Given the description of an element on the screen output the (x, y) to click on. 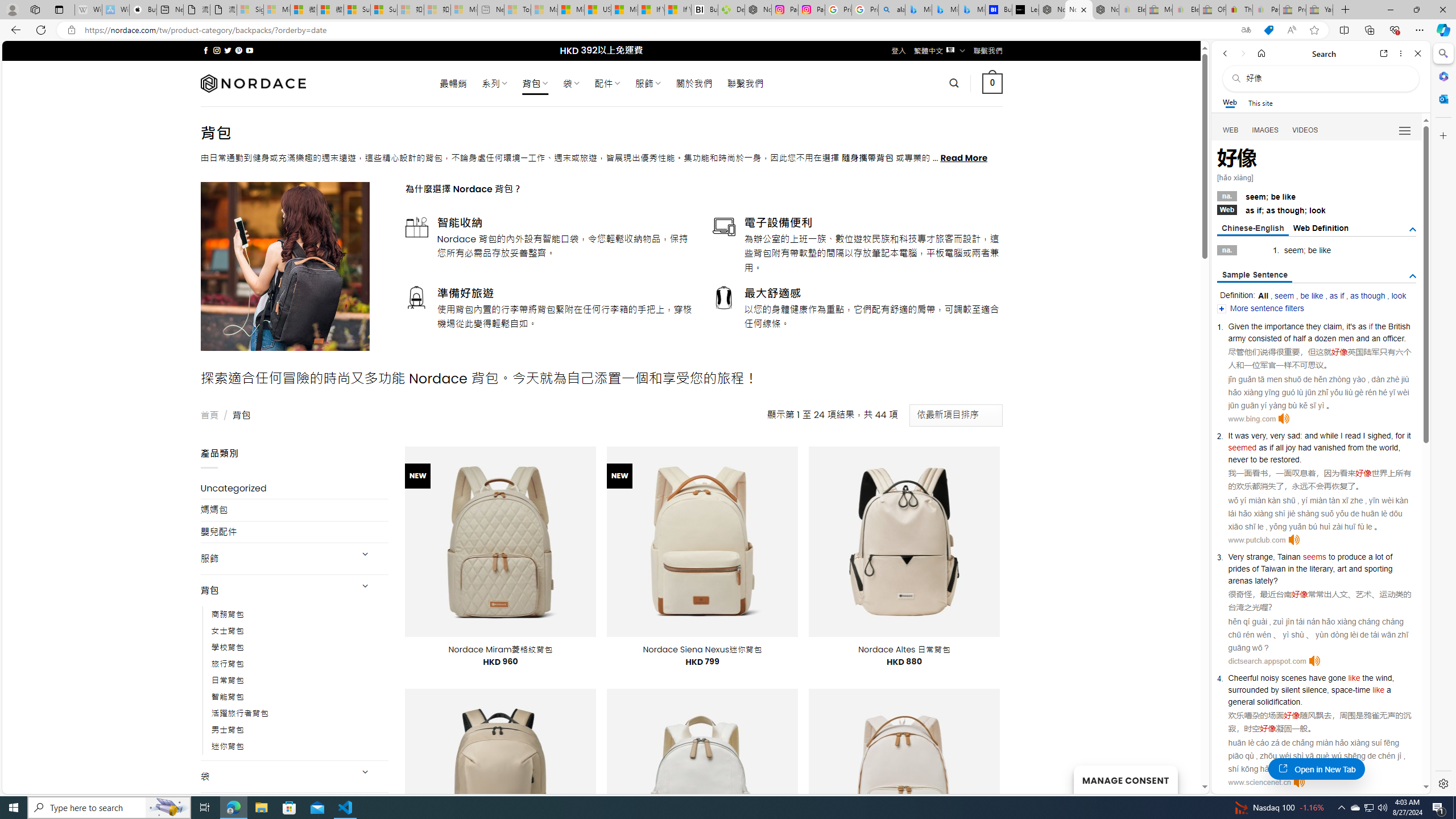
claim (1332, 325)
 0  (992, 83)
Follow on YouTube (249, 50)
scenes (1294, 677)
men (1346, 338)
Very (1235, 556)
